Given the description of an element on the screen output the (x, y) to click on. 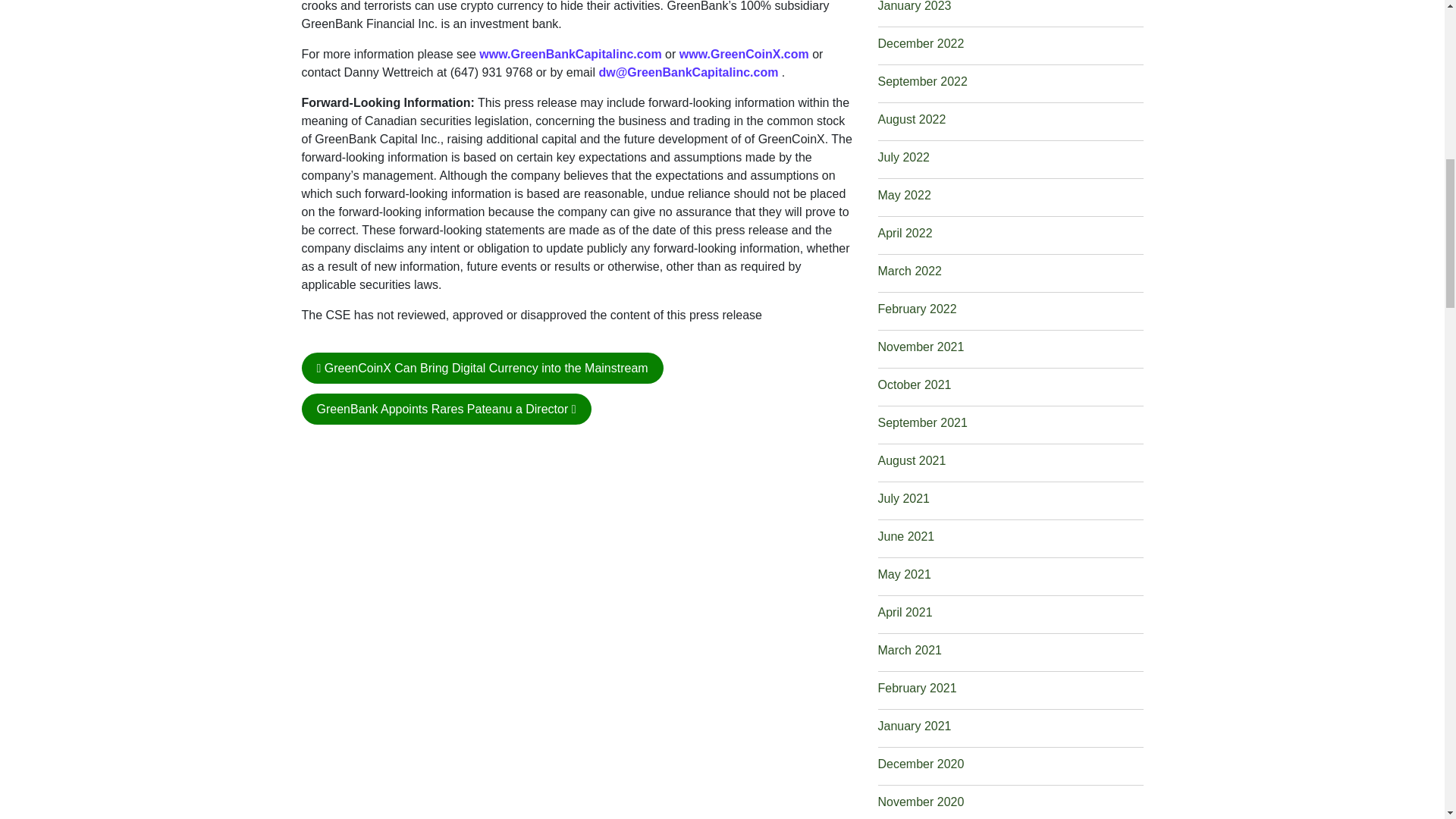
 GreenCoinX Can Bring Digital Currency into the Mainstream (482, 368)
www.GreenCoinX.com (744, 53)
www.GreenBankCapitalinc.com (570, 53)
GreenBank Appoints Rares Pateanu a Director  (446, 409)
